Given the description of an element on the screen output the (x, y) to click on. 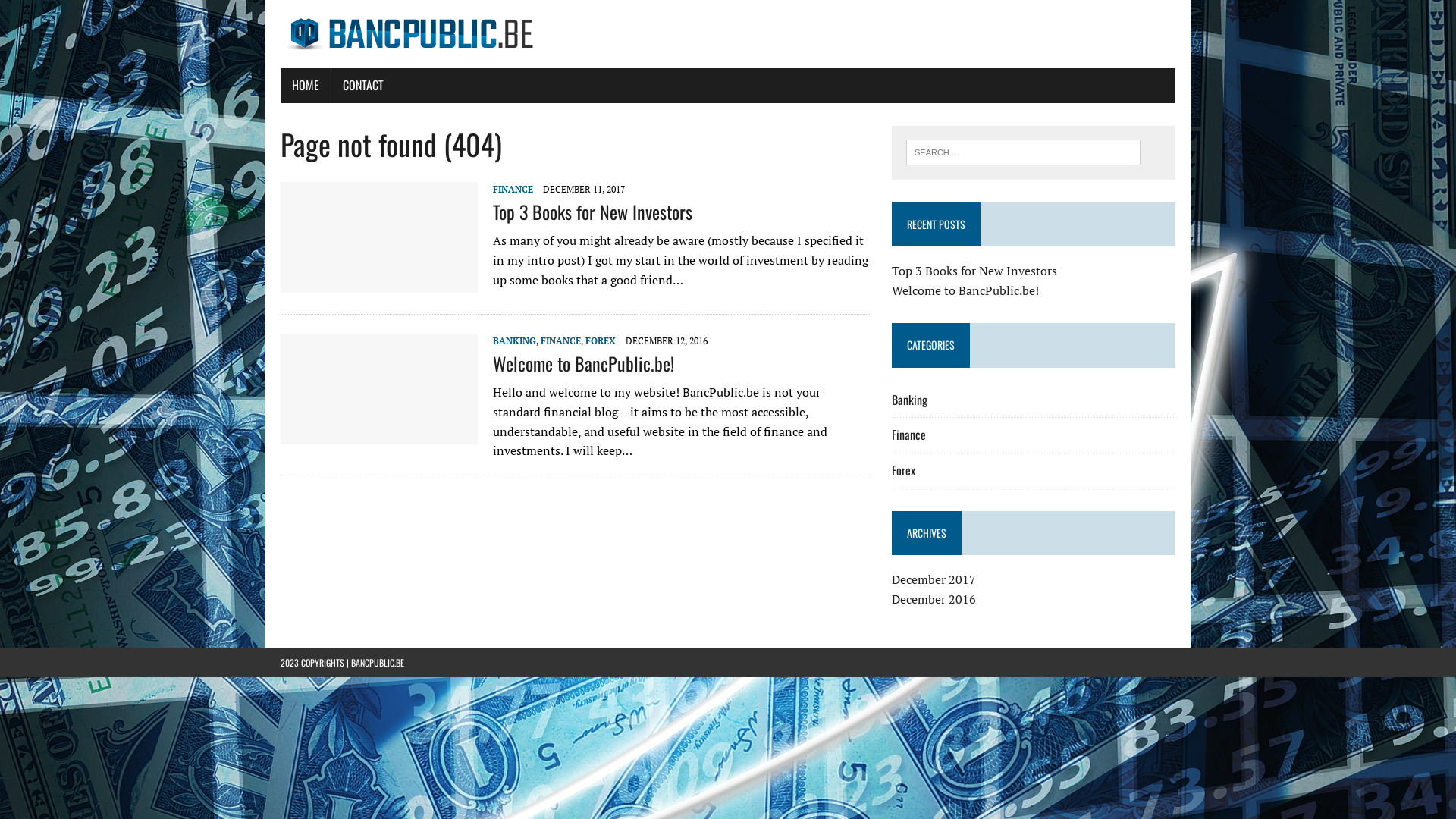
Welcome to BancPublic.be! Element type: text (583, 362)
BANCPUBLIC.BE Element type: text (377, 661)
FINANCE Element type: text (560, 340)
Banking Element type: text (909, 398)
Search Element type: text (75, 14)
FOREX Element type: text (600, 340)
December 2017 Element type: text (933, 579)
BANKING Element type: text (514, 340)
Welcome to BancPublic.be! Element type: hover (378, 433)
Forex Element type: text (903, 470)
December 2016 Element type: text (933, 598)
Top 3 Books for New Investors Element type: hover (378, 281)
CONTACT Element type: text (363, 85)
Top 3 Books for New Investors Element type: text (974, 270)
FINANCE Element type: text (512, 188)
Finance Element type: text (908, 434)
Welcome to BancPublic.be! Element type: text (964, 290)
Top 3 Books for New Investors Element type: text (592, 211)
HOME Element type: text (305, 85)
